Given the description of an element on the screen output the (x, y) to click on. 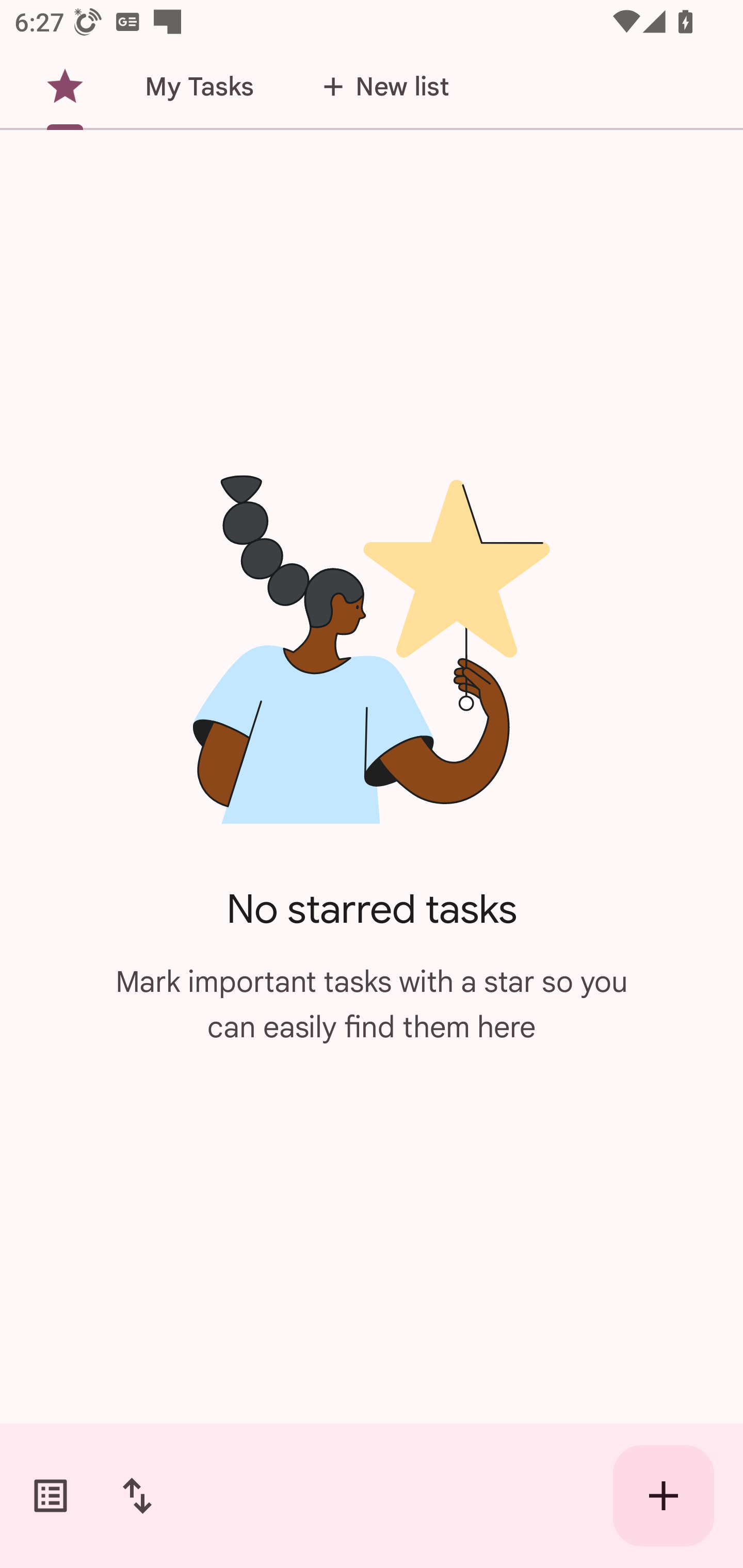
My Tasks (199, 86)
New list (380, 86)
Switch task lists (50, 1495)
Create new task (663, 1495)
Change sort order (136, 1495)
